Given the description of an element on the screen output the (x, y) to click on. 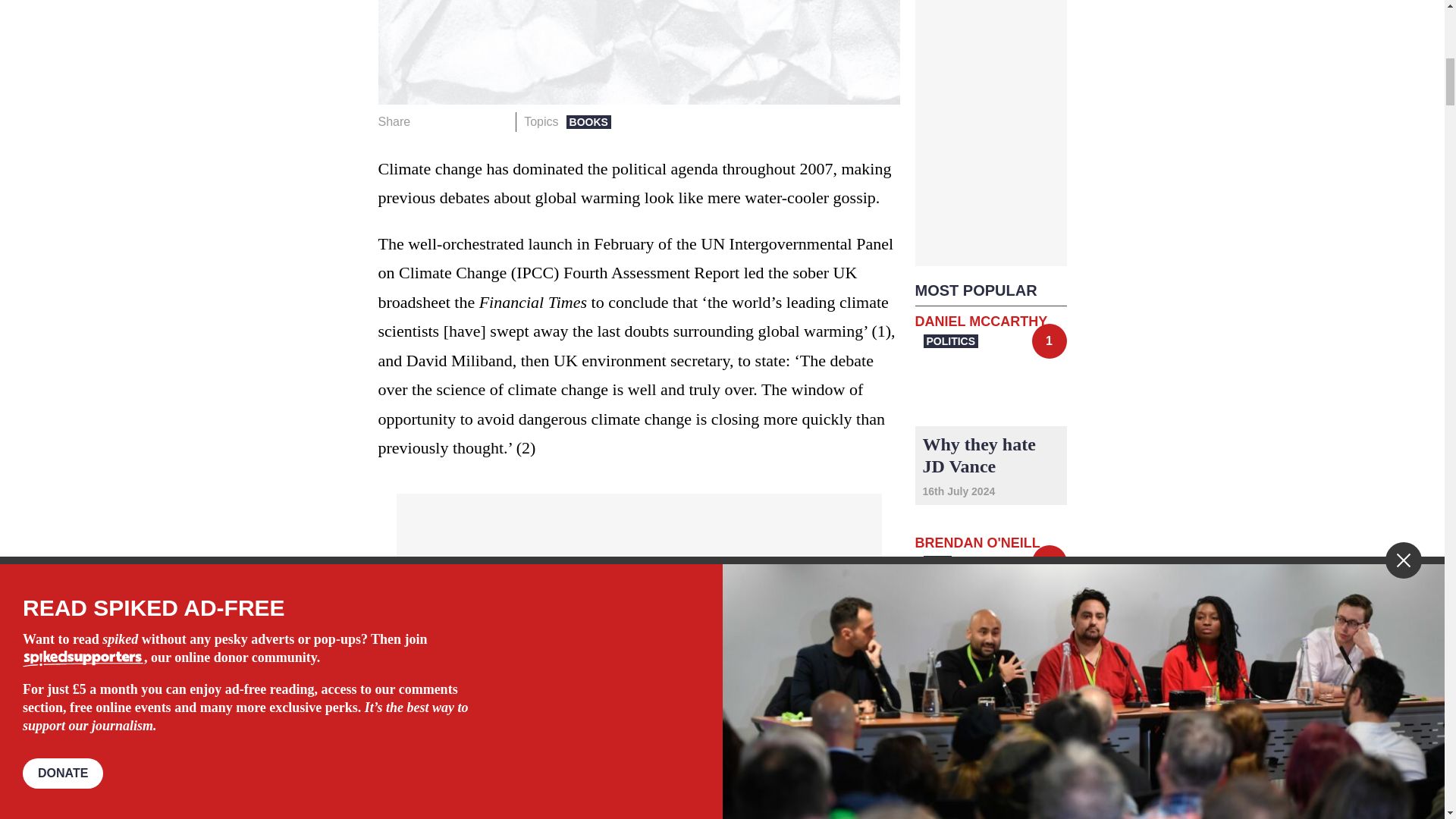
Share on Email (497, 121)
Share on Twitter (451, 121)
Share on Whatsapp (474, 121)
Share on Facebook (427, 121)
